Given the description of an element on the screen output the (x, y) to click on. 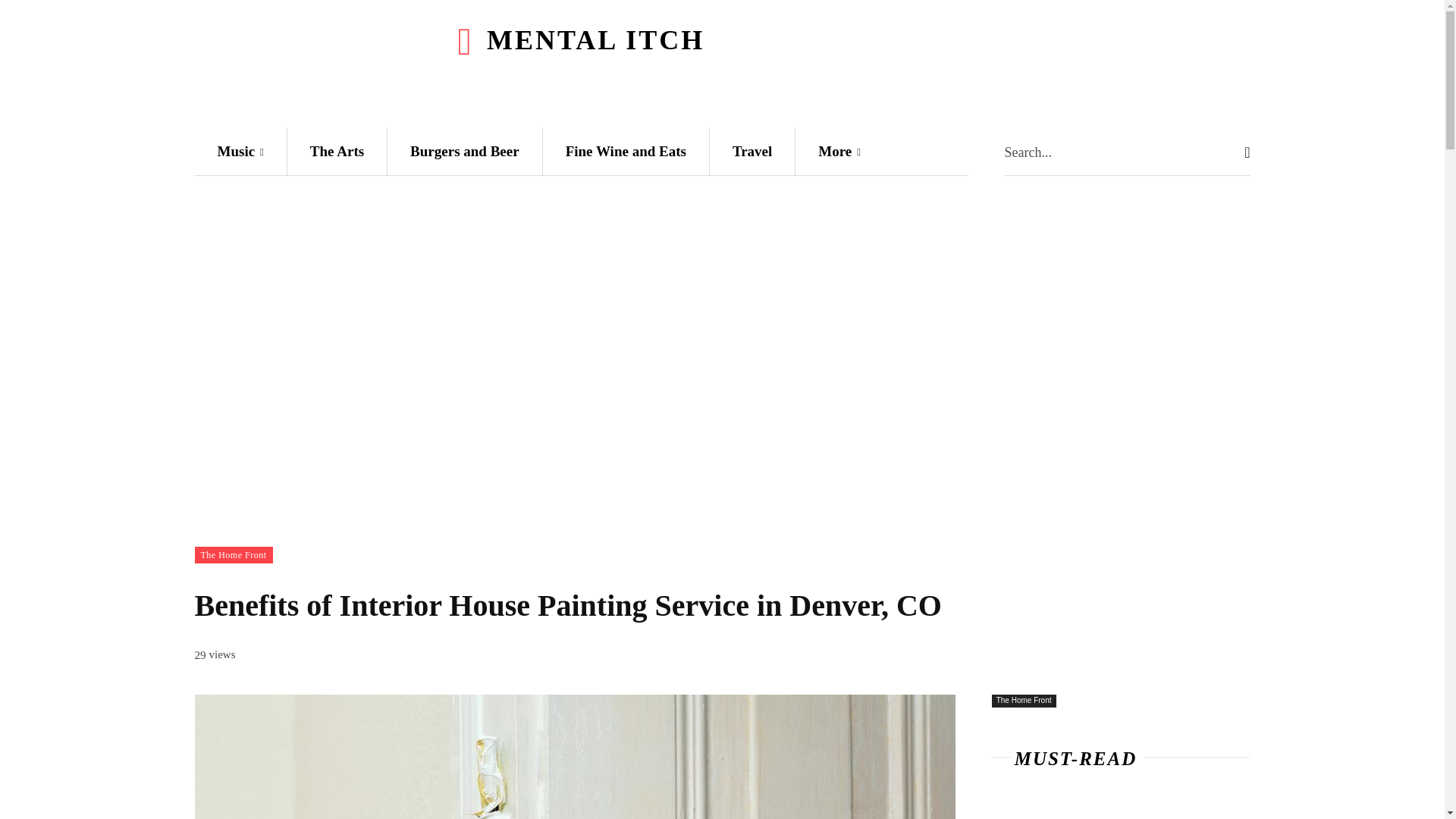
Benefits of Interior House Painting Service in Denver, CO (574, 756)
